Given the description of an element on the screen output the (x, y) to click on. 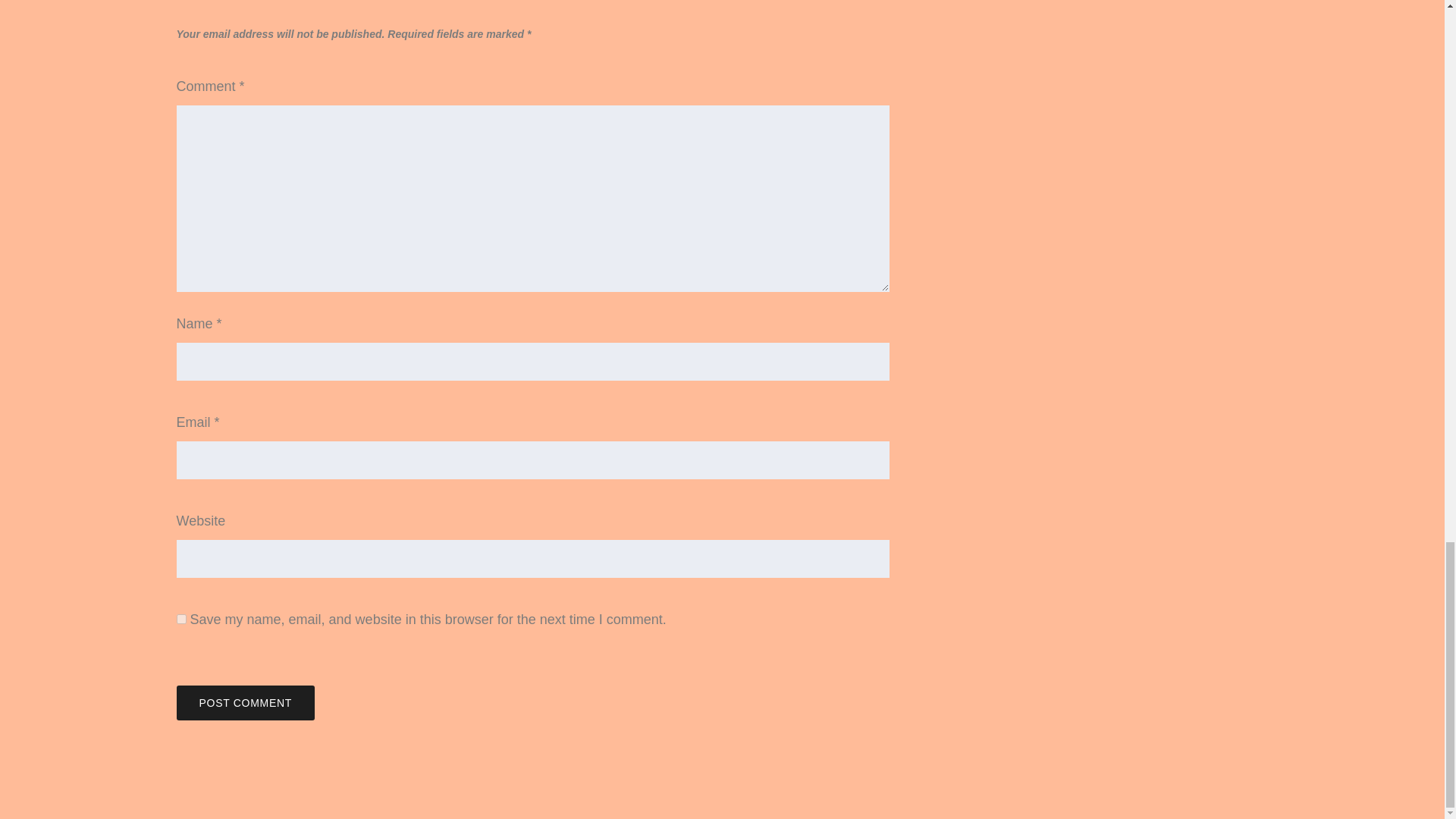
Post Comment (245, 702)
Post Comment (245, 702)
yes (181, 619)
